Given the description of an element on the screen output the (x, y) to click on. 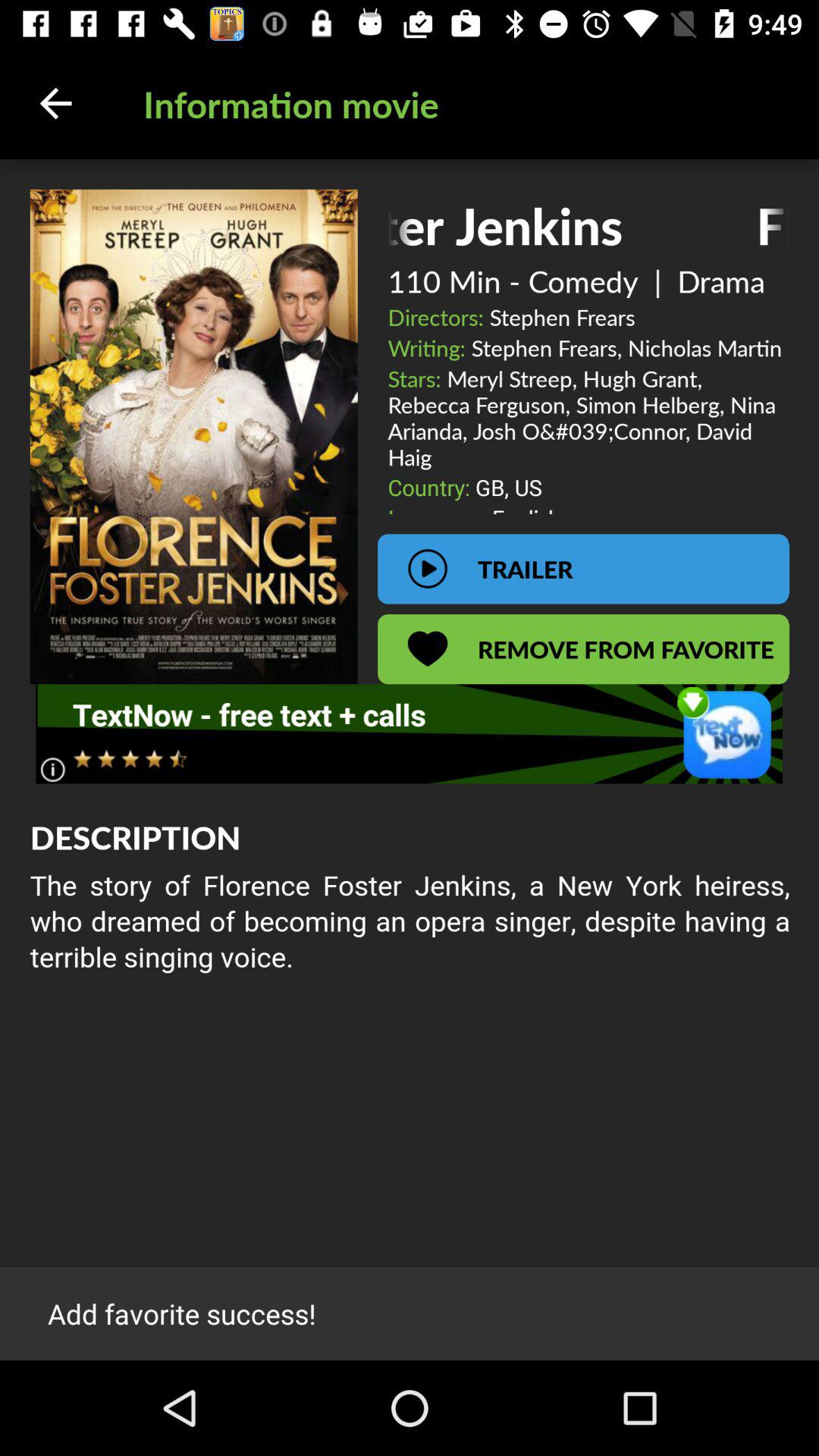
select advertisement (408, 733)
